Given the description of an element on the screen output the (x, y) to click on. 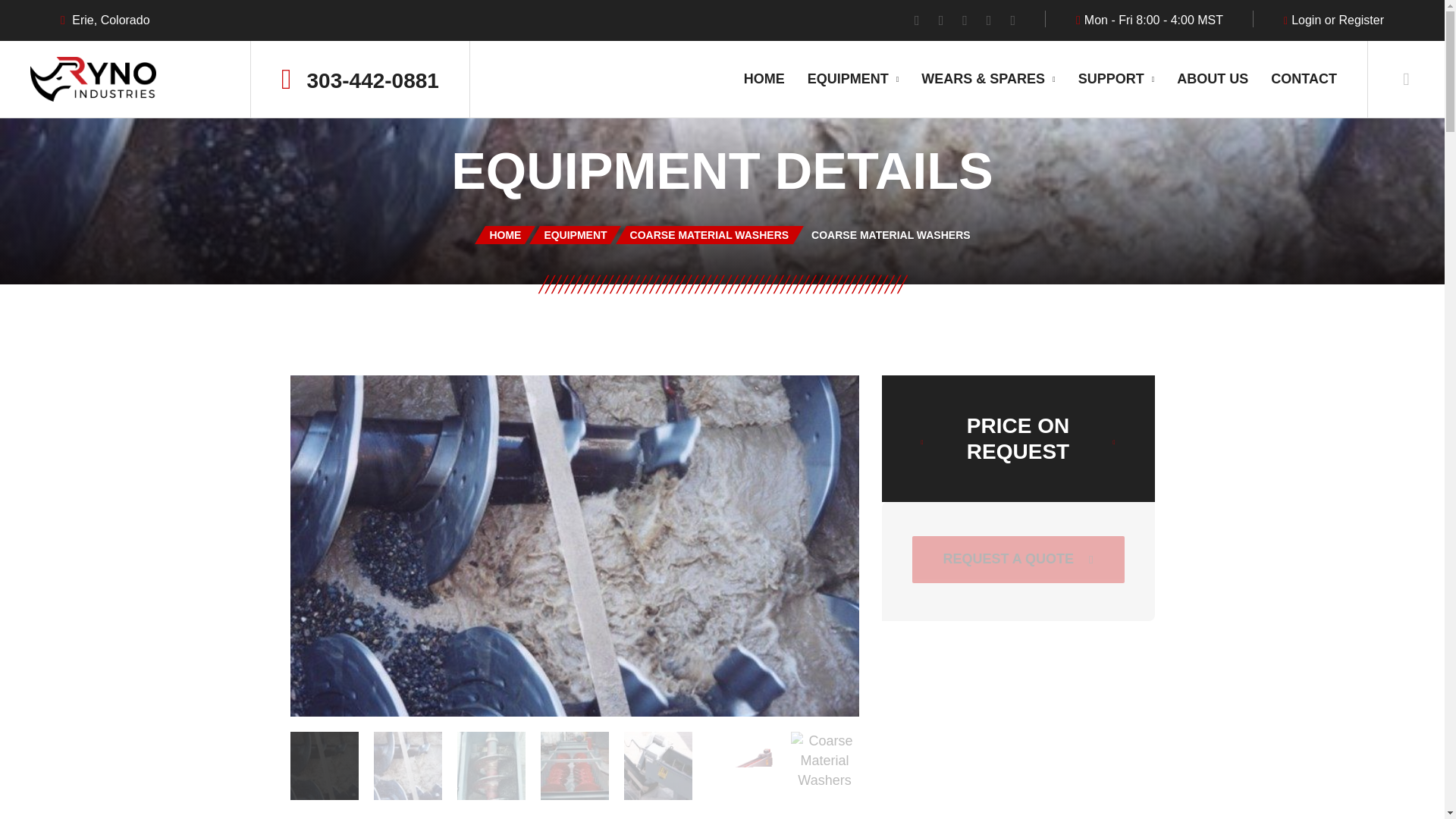
EQUIPMENT (575, 234)
Home (505, 234)
COARSE MATERIAL WASHERS (709, 234)
